Given the description of an element on the screen output the (x, y) to click on. 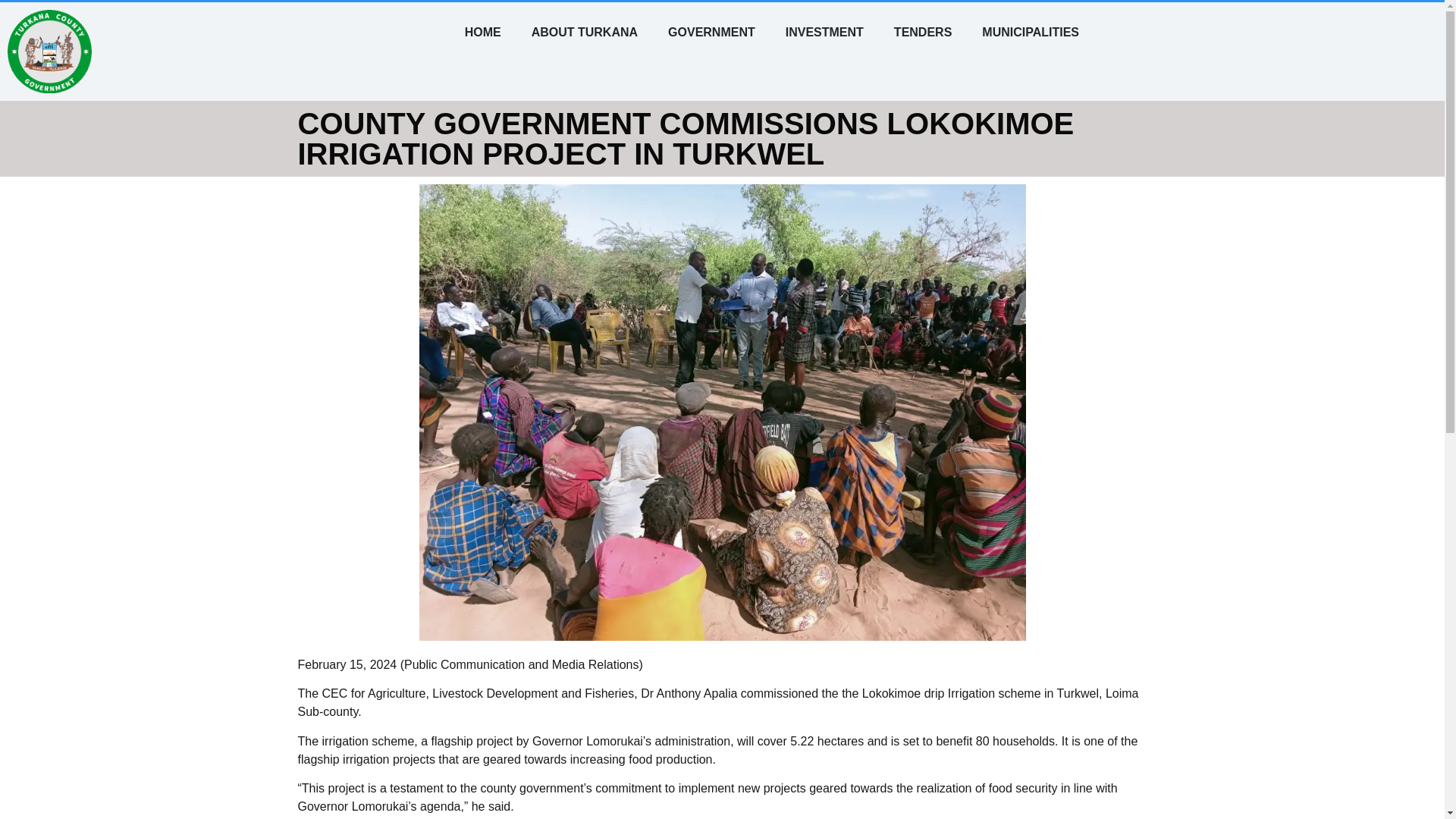
HOME (482, 32)
INVESTMENT (824, 32)
MUNICIPALITIES (1030, 32)
TENDERS (922, 32)
ABOUT TURKANA (584, 32)
GOVERNMENT (711, 32)
